Given the description of an element on the screen output the (x, y) to click on. 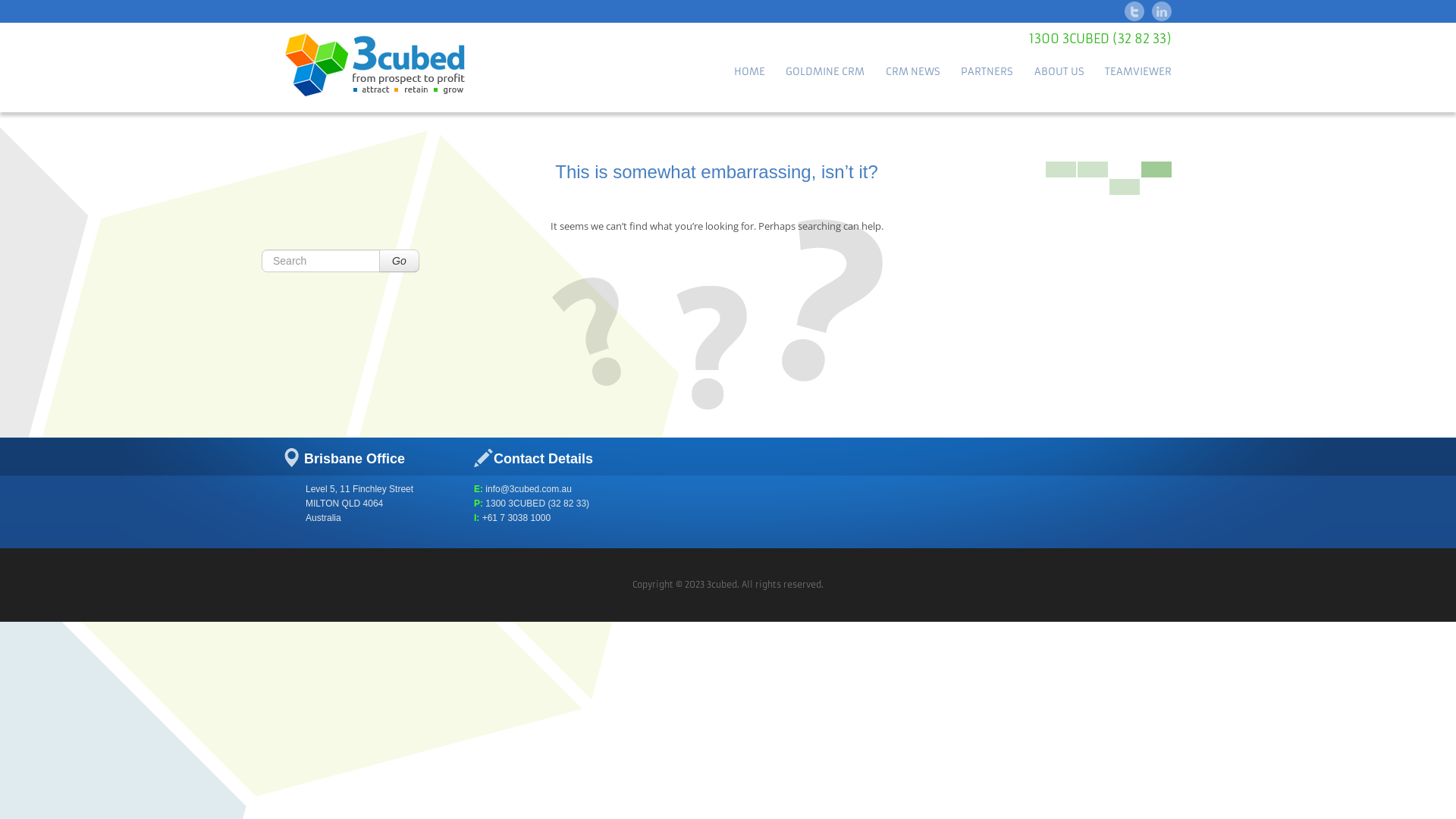
PARTNERS Element type: text (986, 71)
TEAMVIEWER Element type: text (1137, 71)
3cubed Element type: hover (424, 64)
ABOUT US Element type: text (1059, 71)
CRM NEWS Element type: text (912, 71)
Go Element type: text (399, 260)
HOME Element type: text (749, 71)
GOLDMINE CRM Element type: text (824, 71)
